Given the description of an element on the screen output the (x, y) to click on. 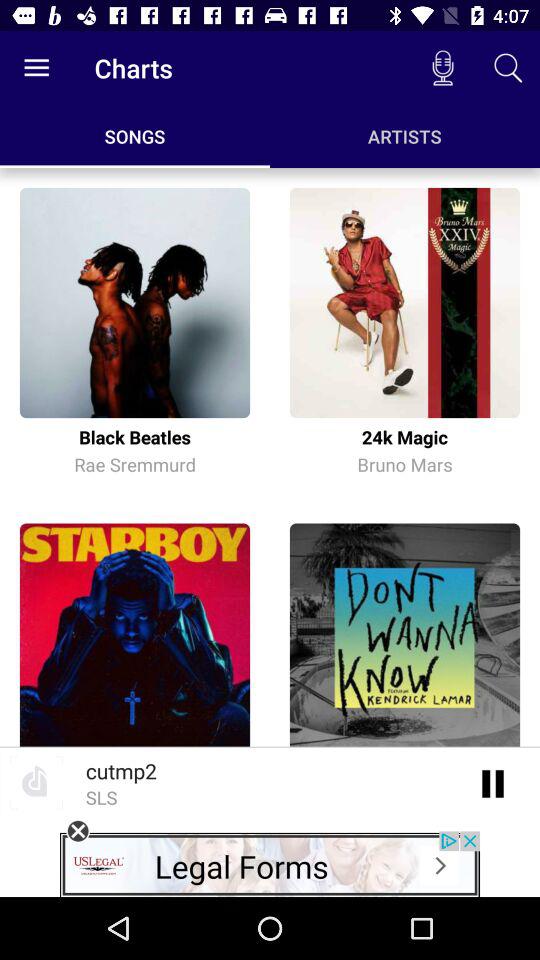
clicks the advertisement (270, 864)
